Given the description of an element on the screen output the (x, y) to click on. 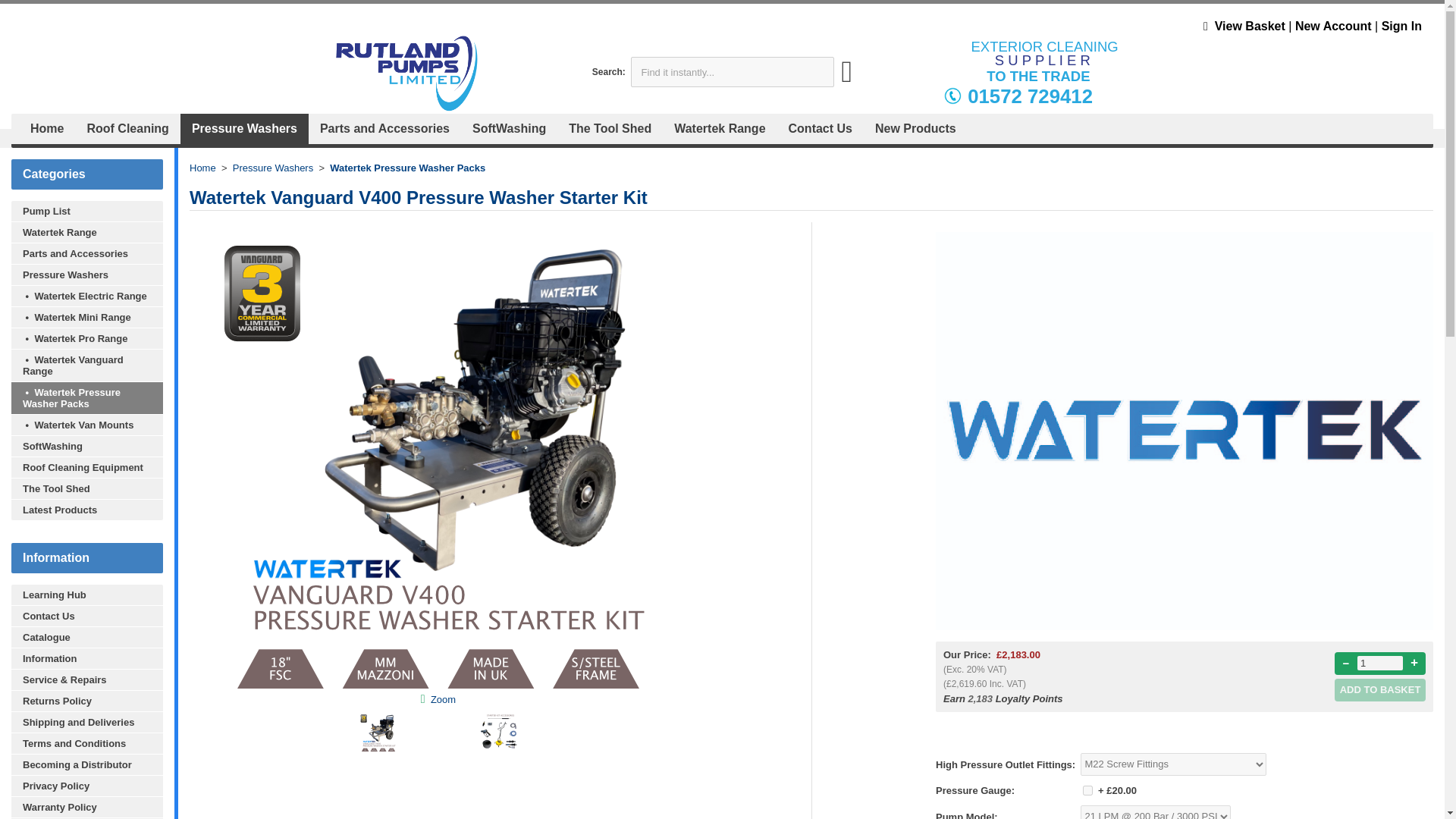
Parts and Accessories (87, 252)
Home (202, 167)
Terms and Conditions (87, 742)
Go (847, 78)
Zoom (442, 698)
Privacy Policy (87, 785)
Watertek Vanguard V400 Pressure Washer Starter Kit (442, 698)
Latest Products (87, 509)
Becoming a Distributor (87, 763)
1 (1088, 790)
Roof Cleaning Equipment (87, 466)
Contact Us (87, 615)
The Tool Shed (87, 487)
